Given the description of an element on the screen output the (x, y) to click on. 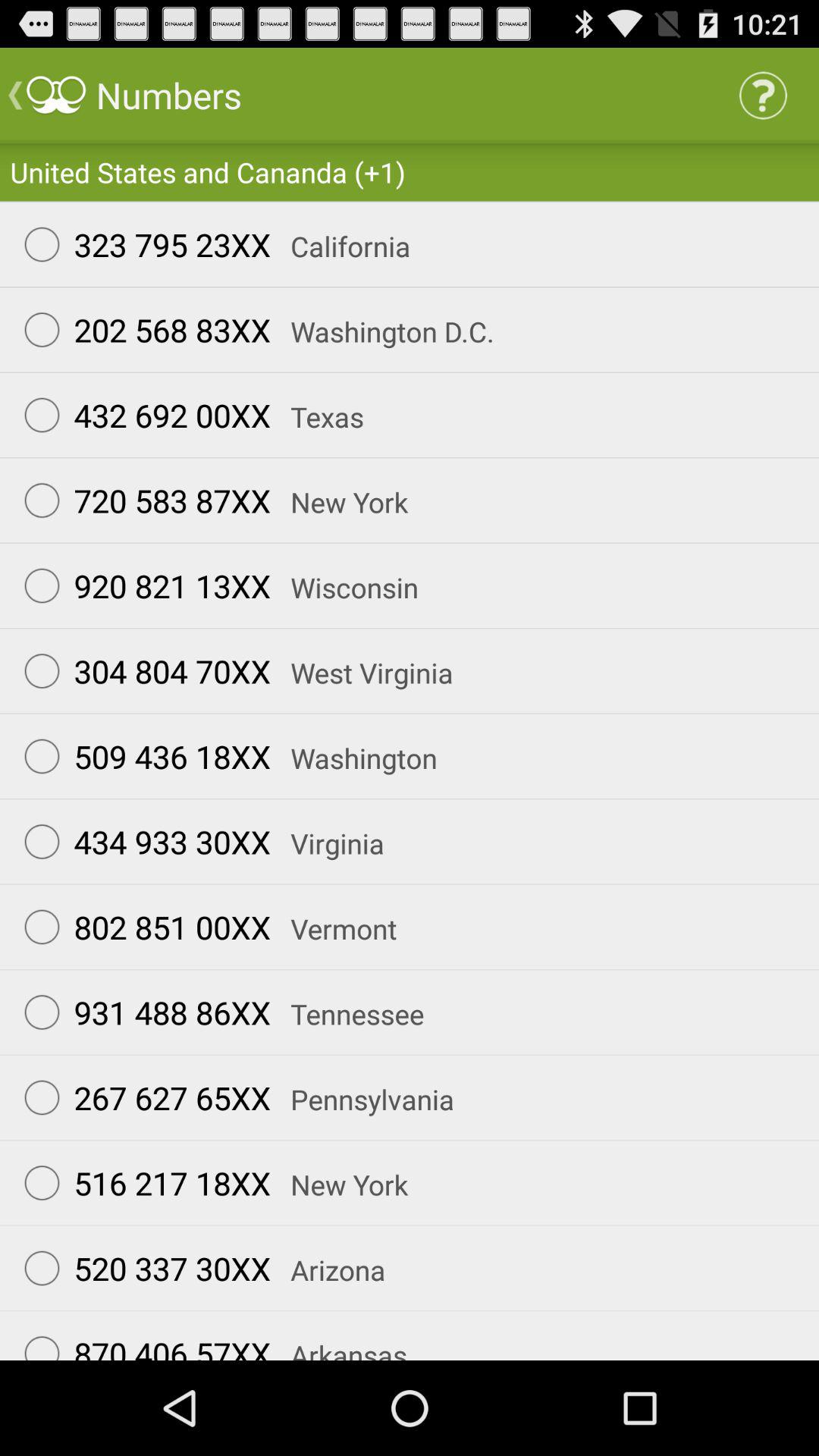
tap the icon below the 802 851 00xx icon (140, 1012)
